Given the description of an element on the screen output the (x, y) to click on. 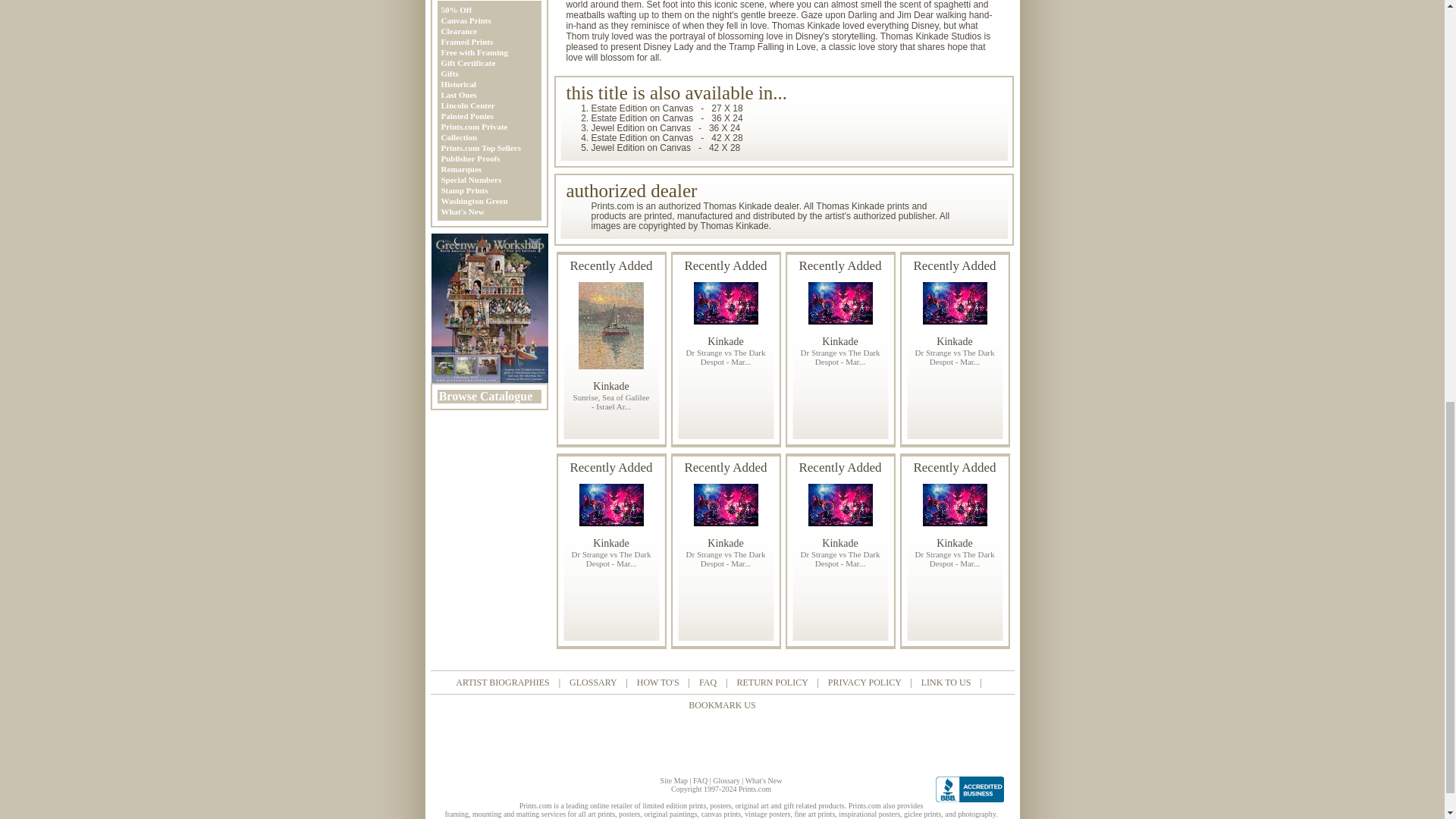
Click to verify BBB accreditation and to see a BBB report. (973, 789)
